Given the description of an element on the screen output the (x, y) to click on. 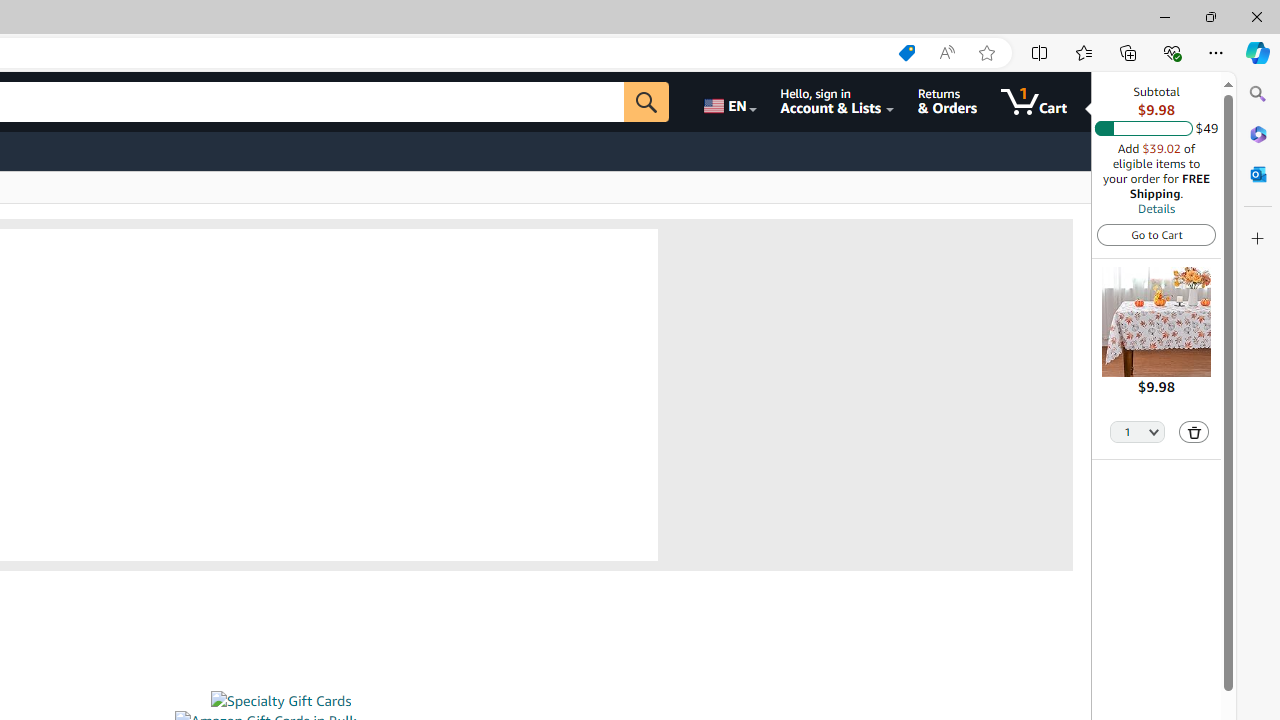
Specialty Gift Cards (280, 701)
Details (1156, 208)
Go (646, 101)
Choose a language for shopping. (728, 101)
Delete (1193, 431)
Specialty Gift Cards (280, 701)
Delete (1194, 431)
Hello, sign in Account & Lists (836, 101)
